Given the description of an element on the screen output the (x, y) to click on. 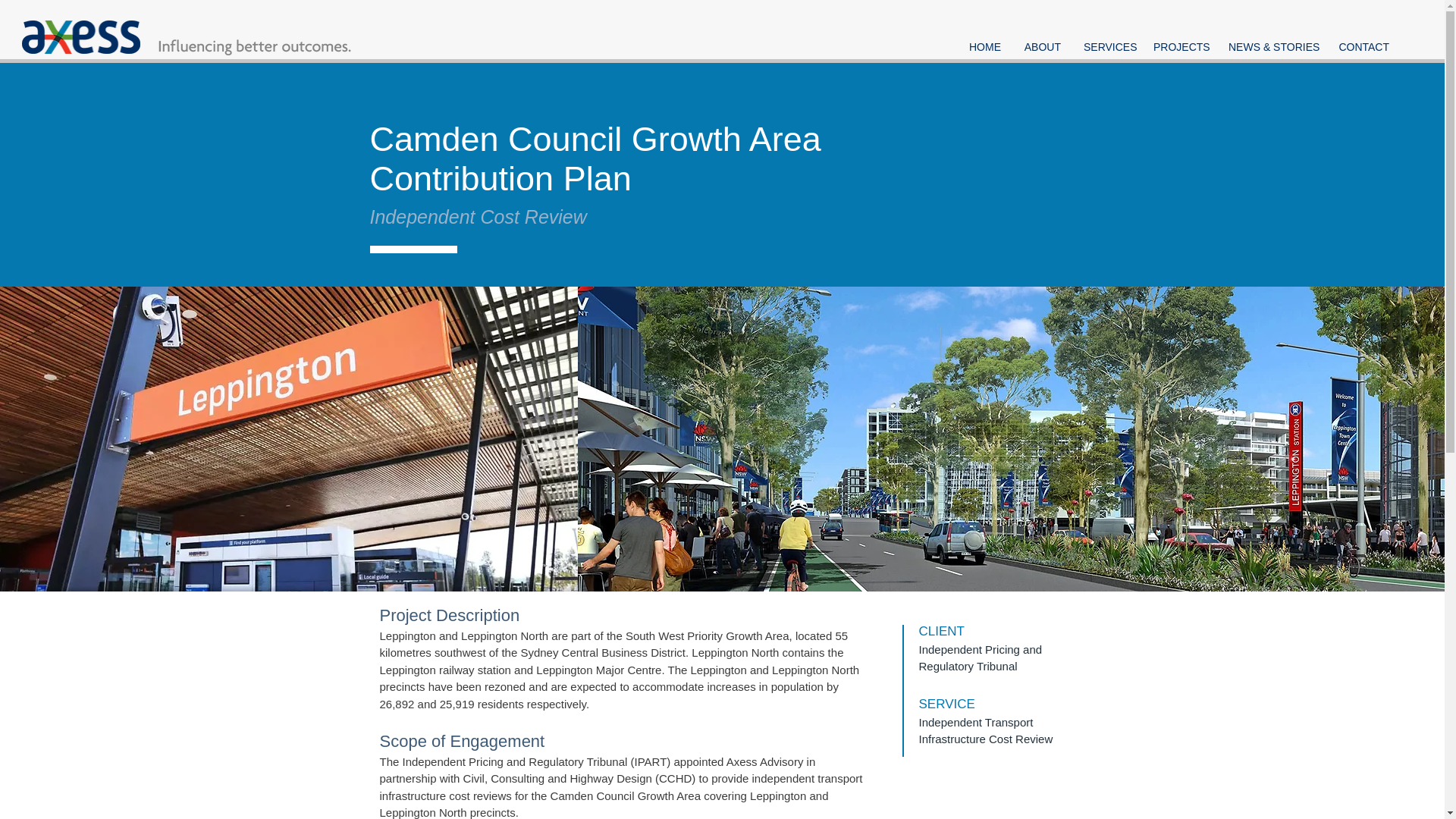
PROJECTS (1179, 46)
ABOUT (1041, 46)
SERVICES (1106, 46)
HOME (984, 46)
CONTACT (1363, 46)
